Given the description of an element on the screen output the (x, y) to click on. 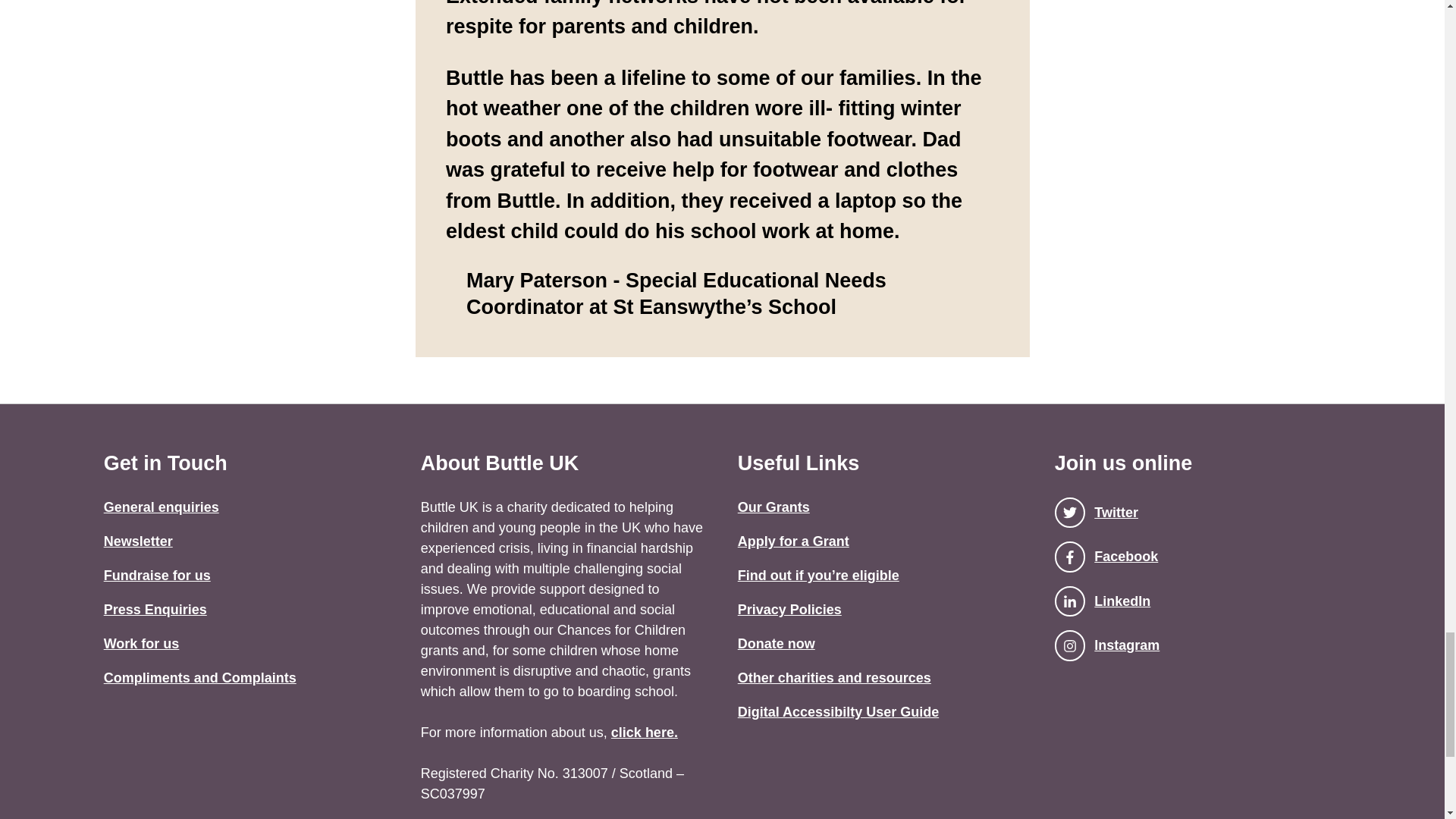
Fundraise for us (157, 575)
Press Enquiries (154, 609)
Newsletter (138, 540)
General enquiries (161, 507)
click here. (644, 732)
Work for us (141, 643)
Compliments and Complaints (200, 677)
